Given the description of an element on the screen output the (x, y) to click on. 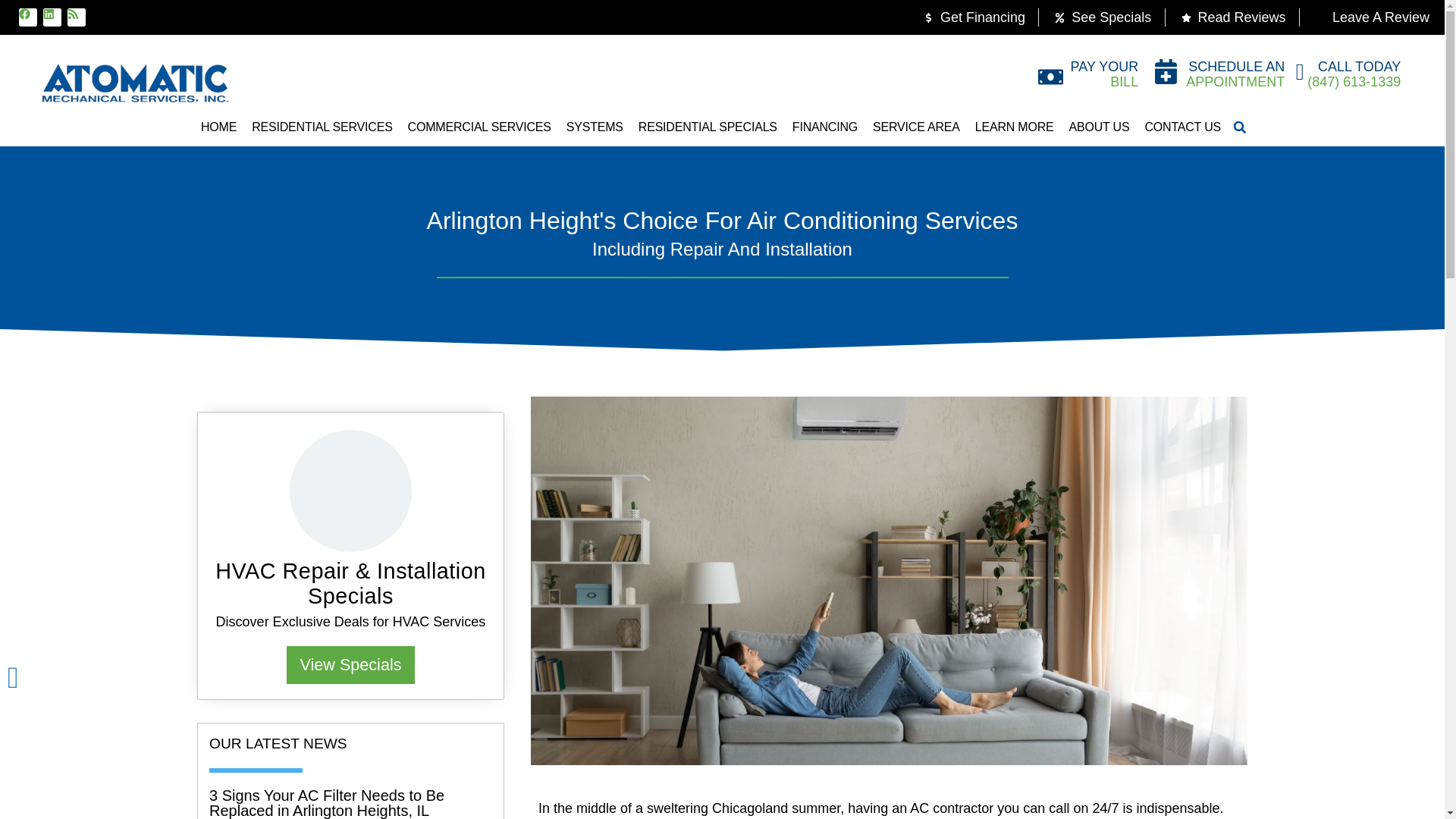
PAY YOUR (1104, 66)
APPOINTMENT (1235, 81)
See Specials (1101, 17)
Leave A Review (1371, 17)
COMMERCIAL SERVICES (479, 127)
SCHEDULE AN (1236, 66)
BILL (1123, 81)
Get Financing (973, 17)
Read Reviews (1231, 17)
RESIDENTIAL SERVICES (321, 127)
